Given the description of an element on the screen output the (x, y) to click on. 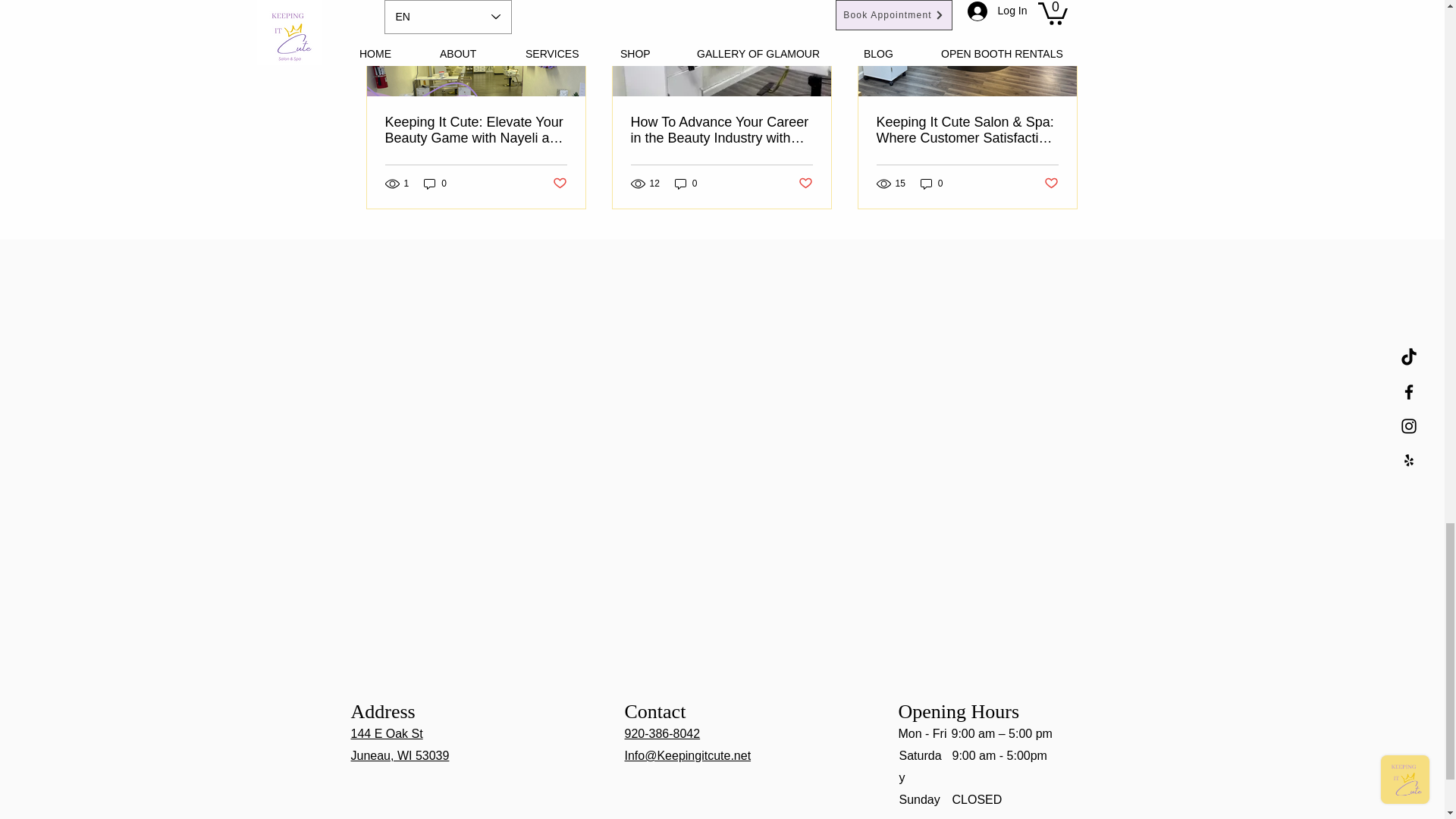
Post not marked as liked (558, 183)
0 (435, 183)
